Given the description of an element on the screen output the (x, y) to click on. 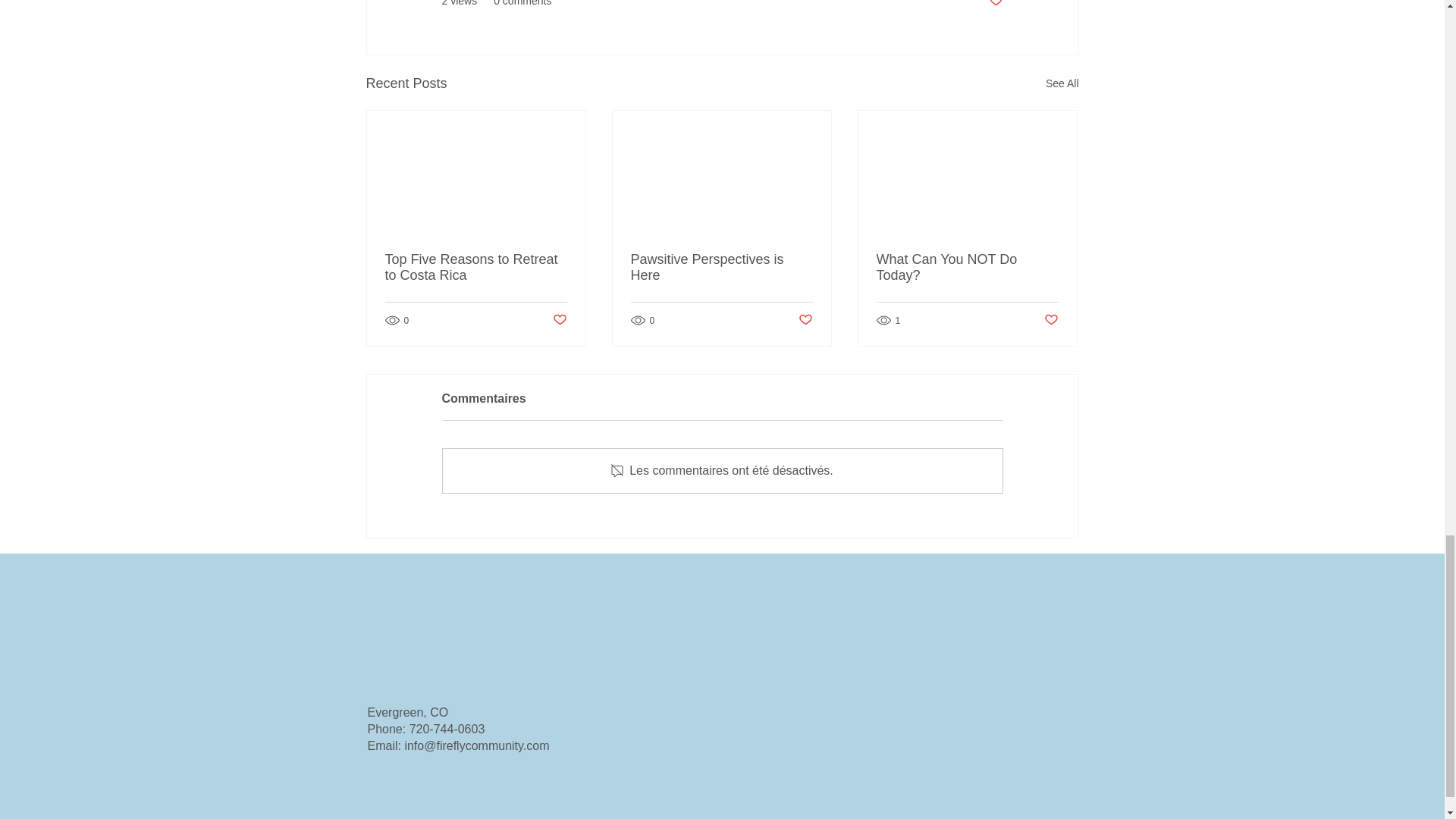
Post not marked as liked (995, 4)
